Given the description of an element on the screen output the (x, y) to click on. 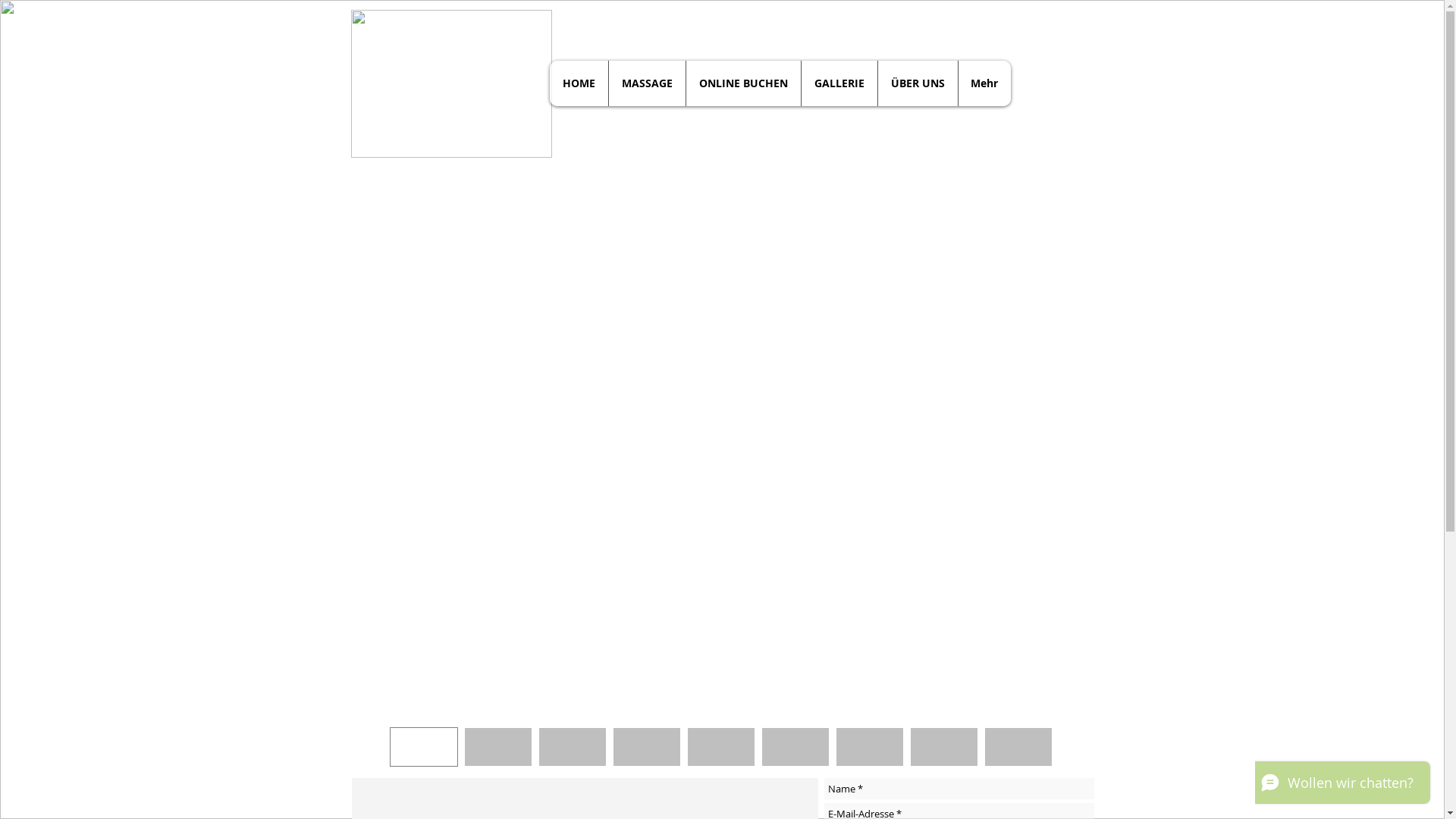
MASSAGE Element type: text (646, 83)
ONLINE BUCHEN Element type: text (742, 83)
GALLERIE Element type: text (838, 83)
HOME Element type: text (578, 83)
